Given the description of an element on the screen output the (x, y) to click on. 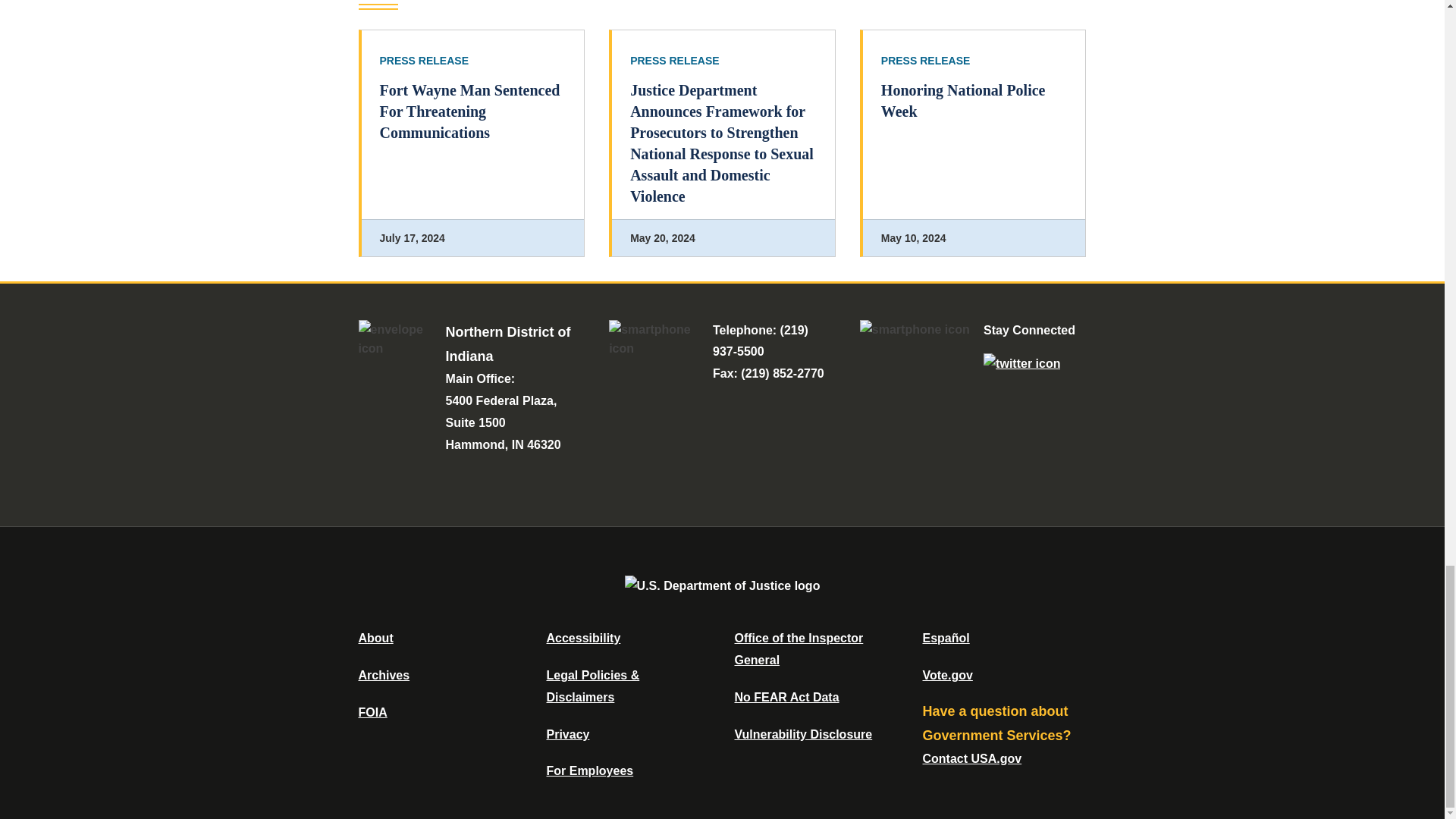
Department of Justice Archive (383, 675)
Accessibility Statement (583, 637)
Data Posted Pursuant To The No Fear Act (785, 697)
About DOJ (375, 637)
Legal Policies and Disclaimers (592, 686)
For Employees (589, 770)
Office of Information Policy (372, 712)
